Given the description of an element on the screen output the (x, y) to click on. 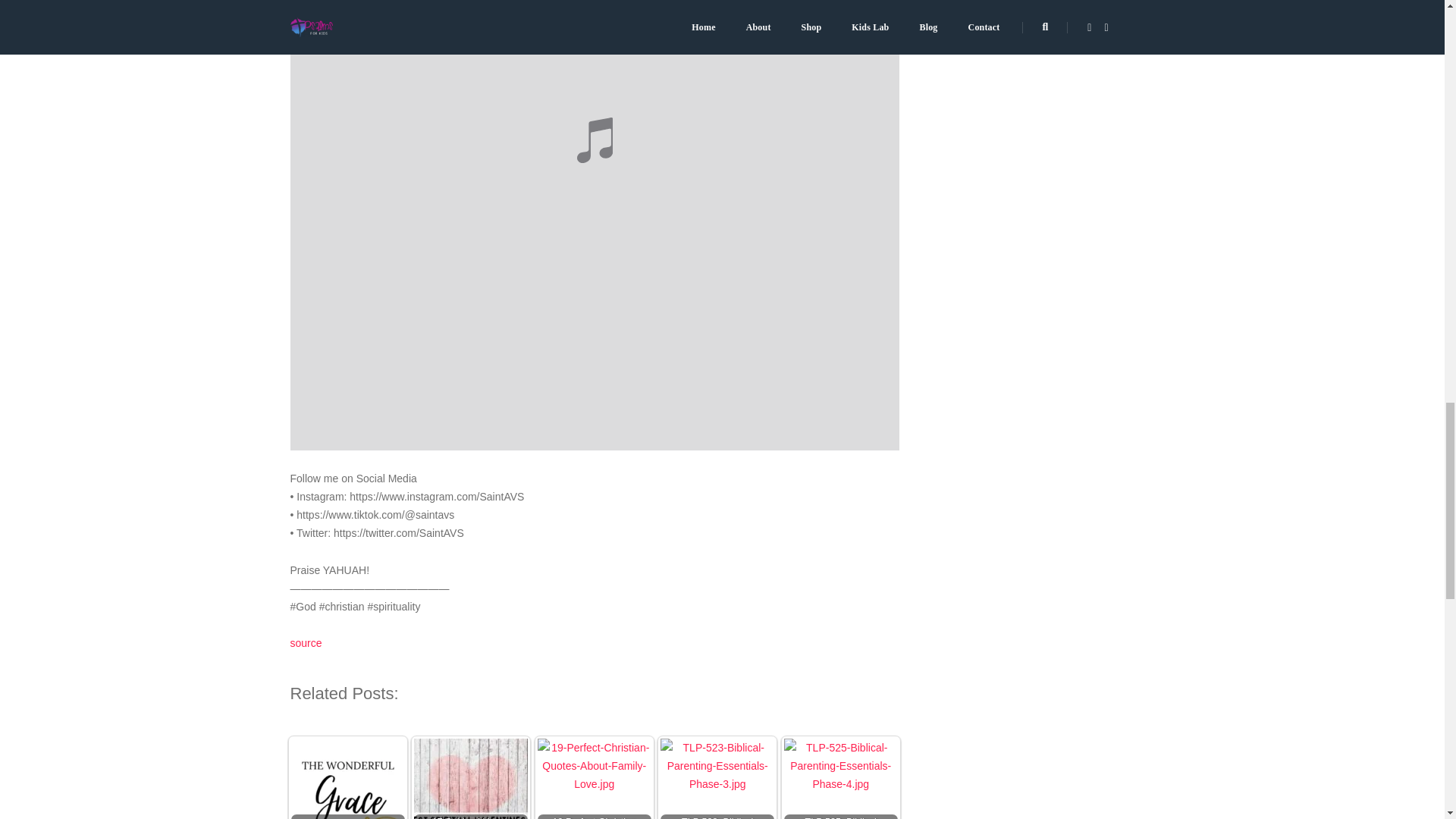
Top 50 Inspirational Quotes About Change (347, 777)
TLP 523: Biblical Parenting Essentials, Phase 3 (717, 778)
17 Spiritual Happy Valentine's Day Quotes to Share (470, 778)
TLP 525: Biblical Parenting Essentials, Phase 4 (841, 778)
TLP 523: Biblical Parenting Essentials, Phase 3 (717, 777)
source (305, 643)
TLP 525: Biblical Parenting Essentials, Phase 4 (840, 777)
Top 50 Inspirational Quotes About Change (347, 778)
17 Spiritual Happy Valentine's Day Quotes to Share (470, 777)
